Given the description of an element on the screen output the (x, y) to click on. 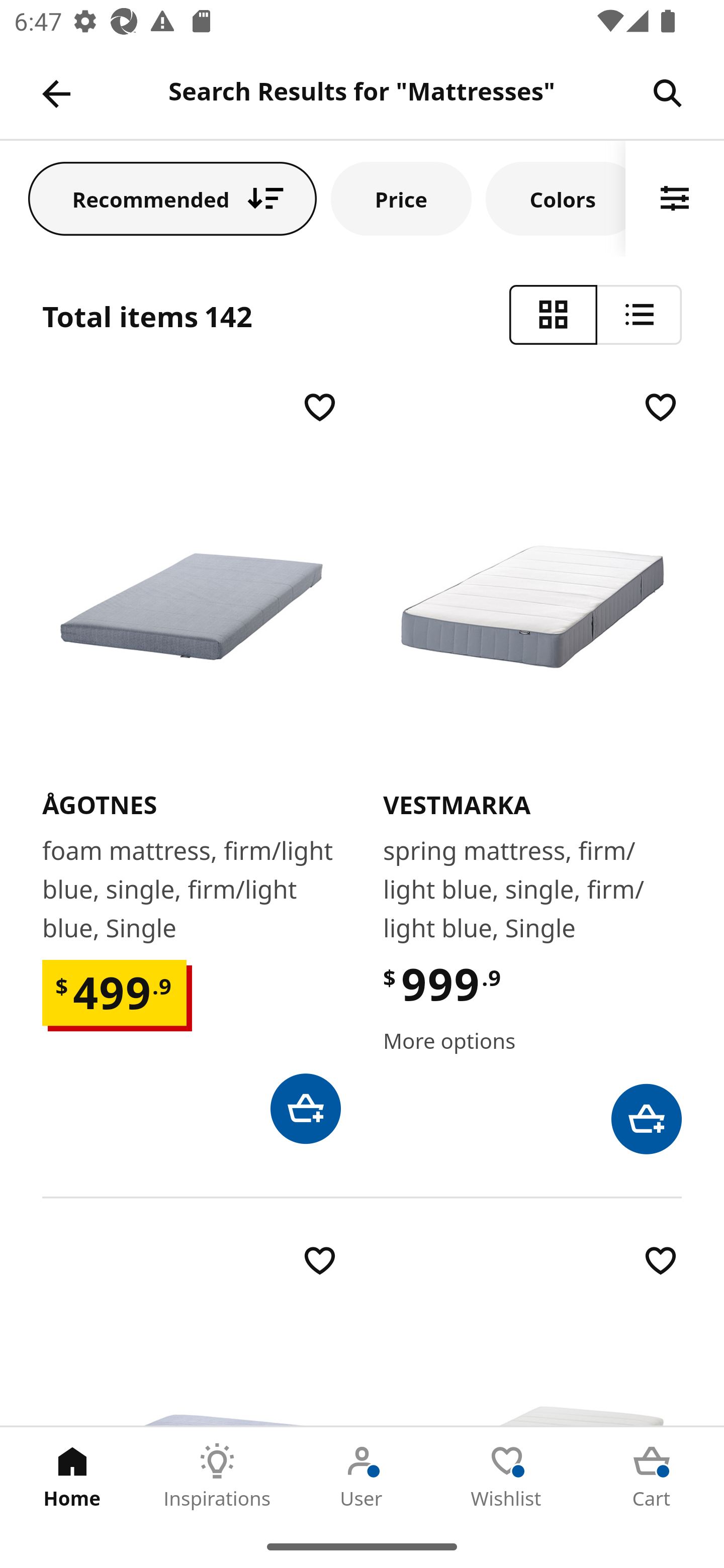
Recommended (172, 198)
Price (400, 198)
Colors (555, 198)
Home
Tab 1 of 5 (72, 1476)
Inspirations
Tab 2 of 5 (216, 1476)
User
Tab 3 of 5 (361, 1476)
Wishlist
Tab 4 of 5 (506, 1476)
Cart
Tab 5 of 5 (651, 1476)
